Given the description of an element on the screen output the (x, y) to click on. 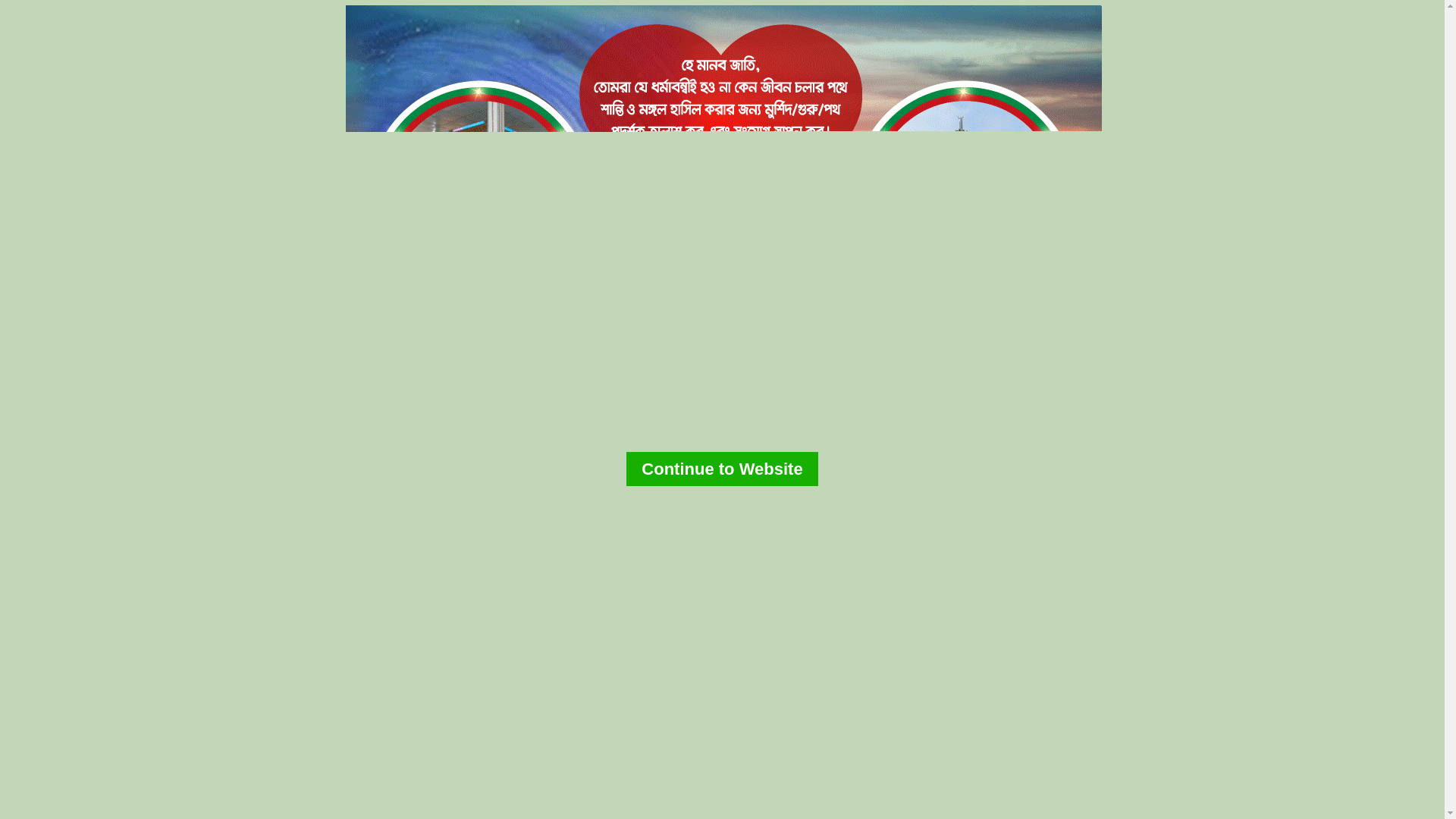
Continue to Website Element type: text (721, 468)
